Given the description of an element on the screen output the (x, y) to click on. 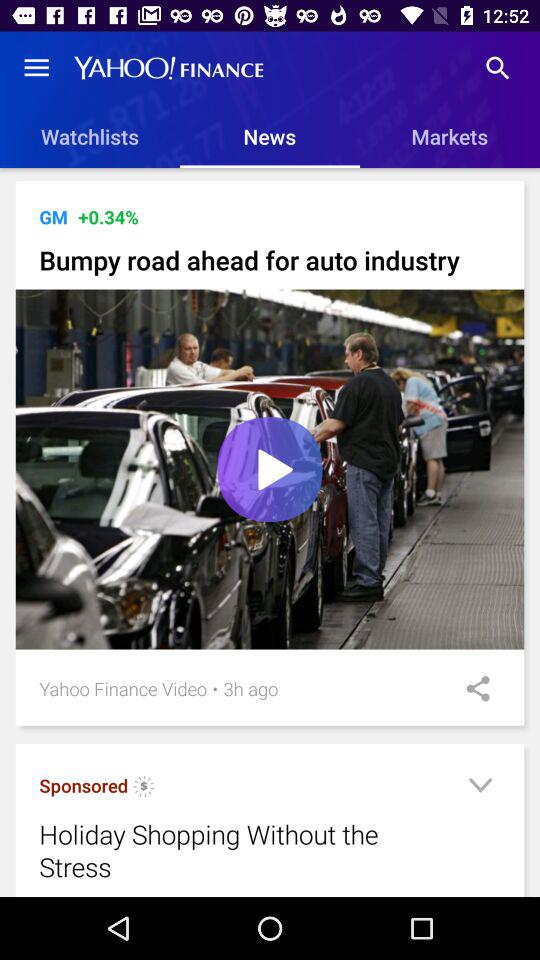
turn off the icon to the right of the 3h ago (471, 688)
